Given the description of an element on the screen output the (x, y) to click on. 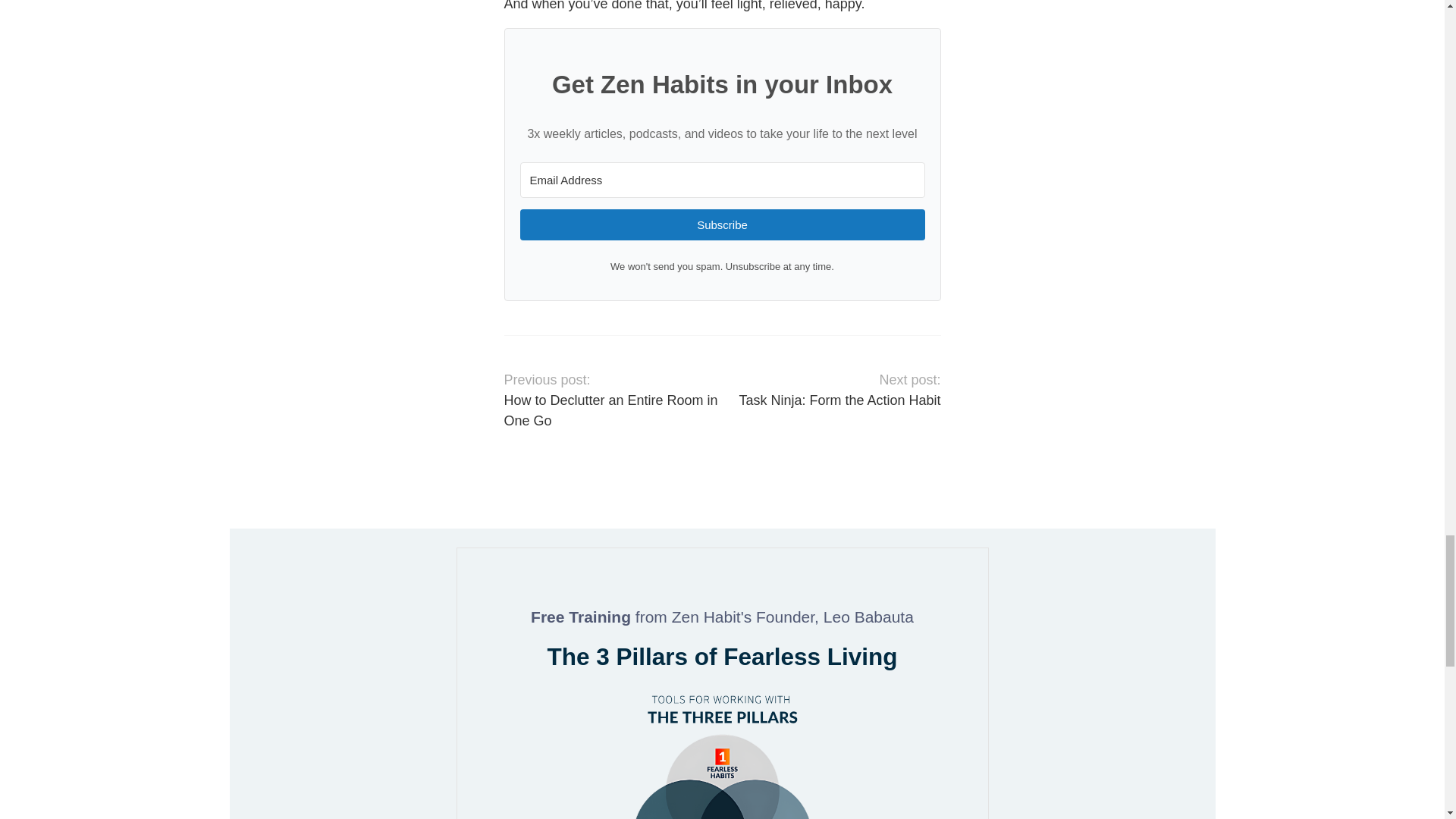
Subscribe (721, 224)
Task Ninja: Form the Action Habit (839, 400)
How to Declutter an Entire Room in One Go (610, 410)
